Given the description of an element on the screen output the (x, y) to click on. 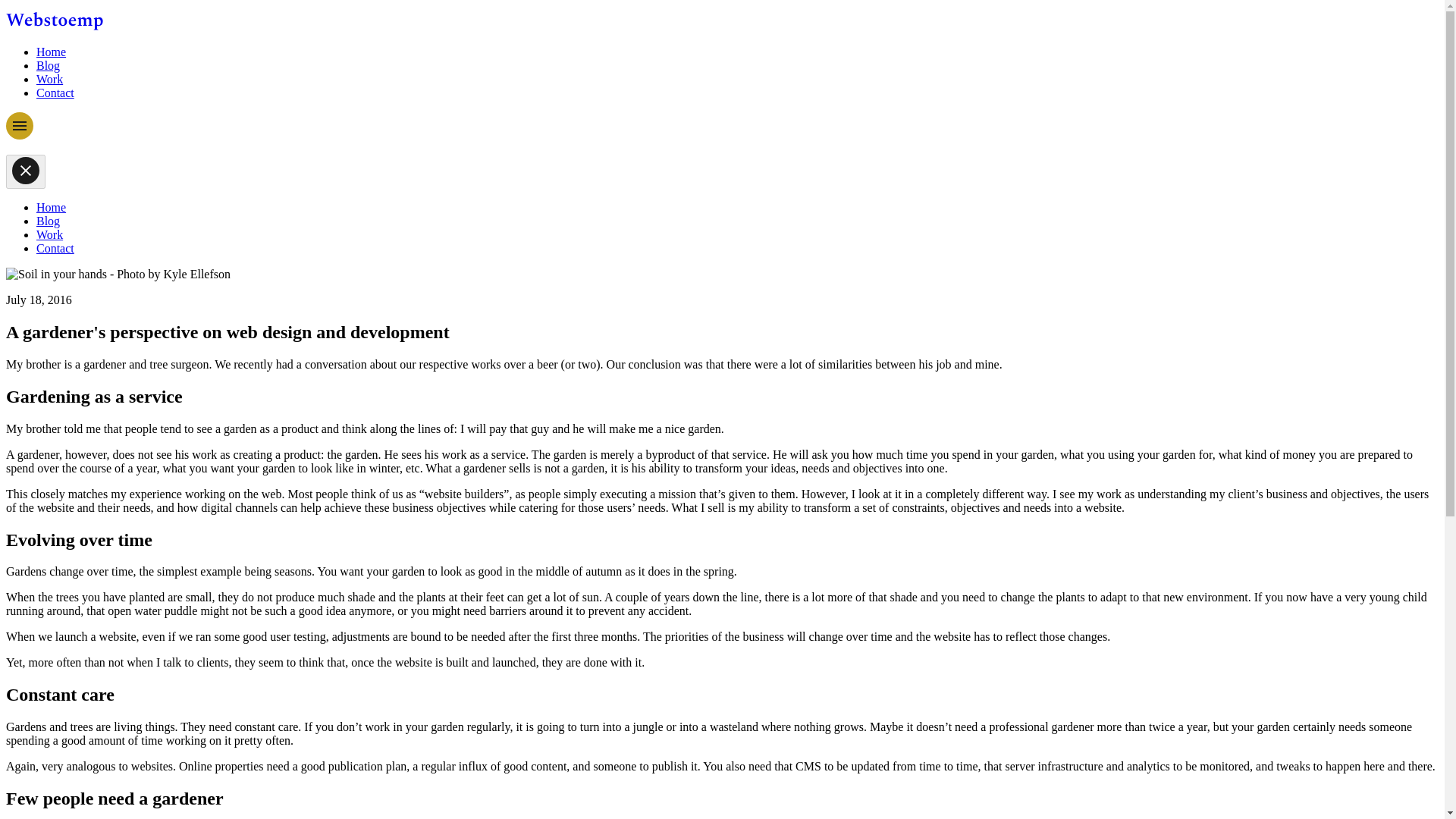
Close navigation (25, 170)
Webstoemp Logo (54, 25)
Work (49, 78)
Close navigation (25, 171)
Blog (47, 65)
Home (50, 51)
Home (50, 206)
Blog (47, 220)
Contact (55, 247)
Contact (55, 92)
Open navigation (19, 125)
Work (49, 234)
Webstoemp Logo (54, 21)
Open navigation (19, 134)
